Given the description of an element on the screen output the (x, y) to click on. 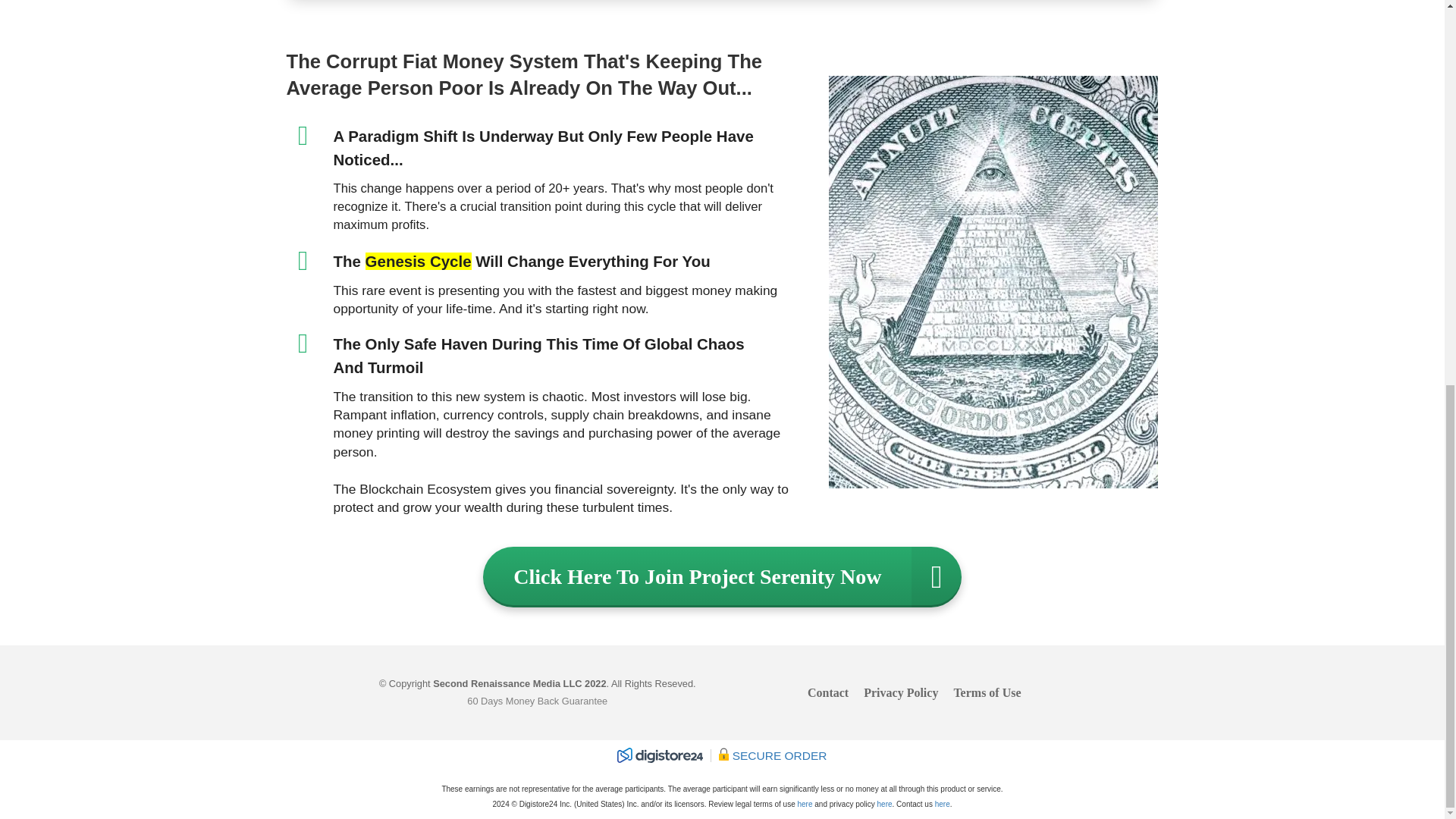
Contact (832, 693)
Terms of Use (982, 693)
here (884, 804)
here (942, 804)
Privacy Policy (900, 693)
Click Here To Join Project Serenity Now (721, 577)
SECURE ORDER (722, 759)
here (804, 804)
